Given the description of an element on the screen output the (x, y) to click on. 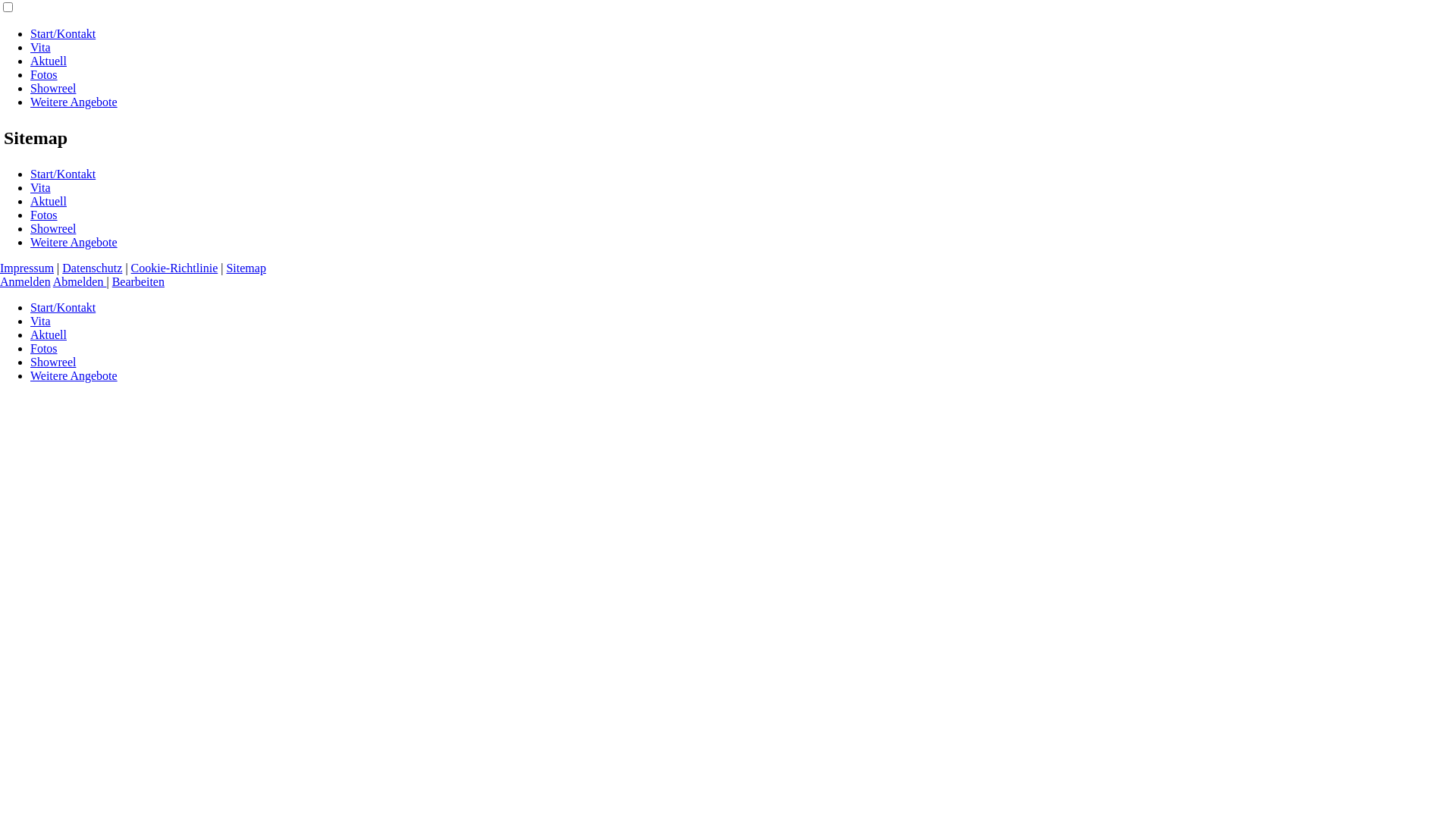
Showreel Element type: text (52, 361)
Start/Kontakt Element type: text (62, 33)
Fotos Element type: text (43, 214)
Aktuell Element type: text (48, 60)
Weitere Angebote Element type: text (73, 241)
Showreel Element type: text (52, 87)
Sitemap Element type: text (245, 267)
Abmelden Element type: text (79, 281)
Bearbeiten Element type: text (138, 281)
Anmelden Element type: text (25, 281)
Start/Kontakt Element type: text (62, 173)
Start/Kontakt Element type: text (62, 307)
Vita Element type: text (40, 187)
Aktuell Element type: text (48, 200)
Aktuell Element type: text (48, 334)
Impressum Element type: text (26, 267)
Weitere Angebote Element type: text (73, 375)
Fotos Element type: text (43, 74)
Datenschutz Element type: text (92, 267)
Cookie-Richtlinie Element type: text (174, 267)
Showreel Element type: text (52, 228)
Vita Element type: text (40, 320)
Vita Element type: text (40, 46)
Fotos Element type: text (43, 348)
Weitere Angebote Element type: text (73, 101)
